Given the description of an element on the screen output the (x, y) to click on. 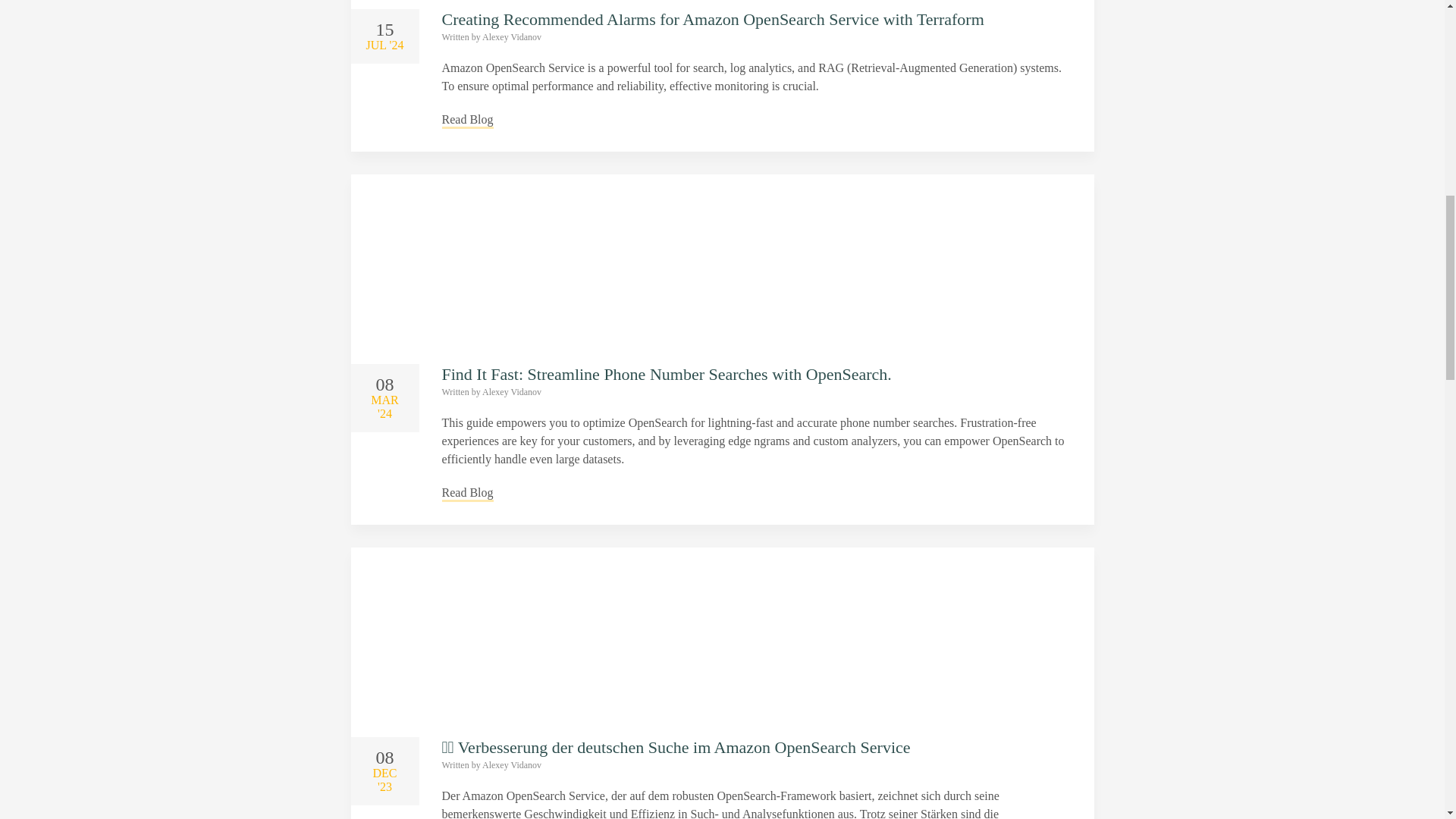
Alexey Vidanov (511, 36)
Alexey Vidanov (511, 765)
Alexey Vidanov (511, 391)
Read Blog (467, 493)
Read Blog (467, 119)
Alexey Vidanov's Author Profile (511, 36)
